Given the description of an element on the screen output the (x, y) to click on. 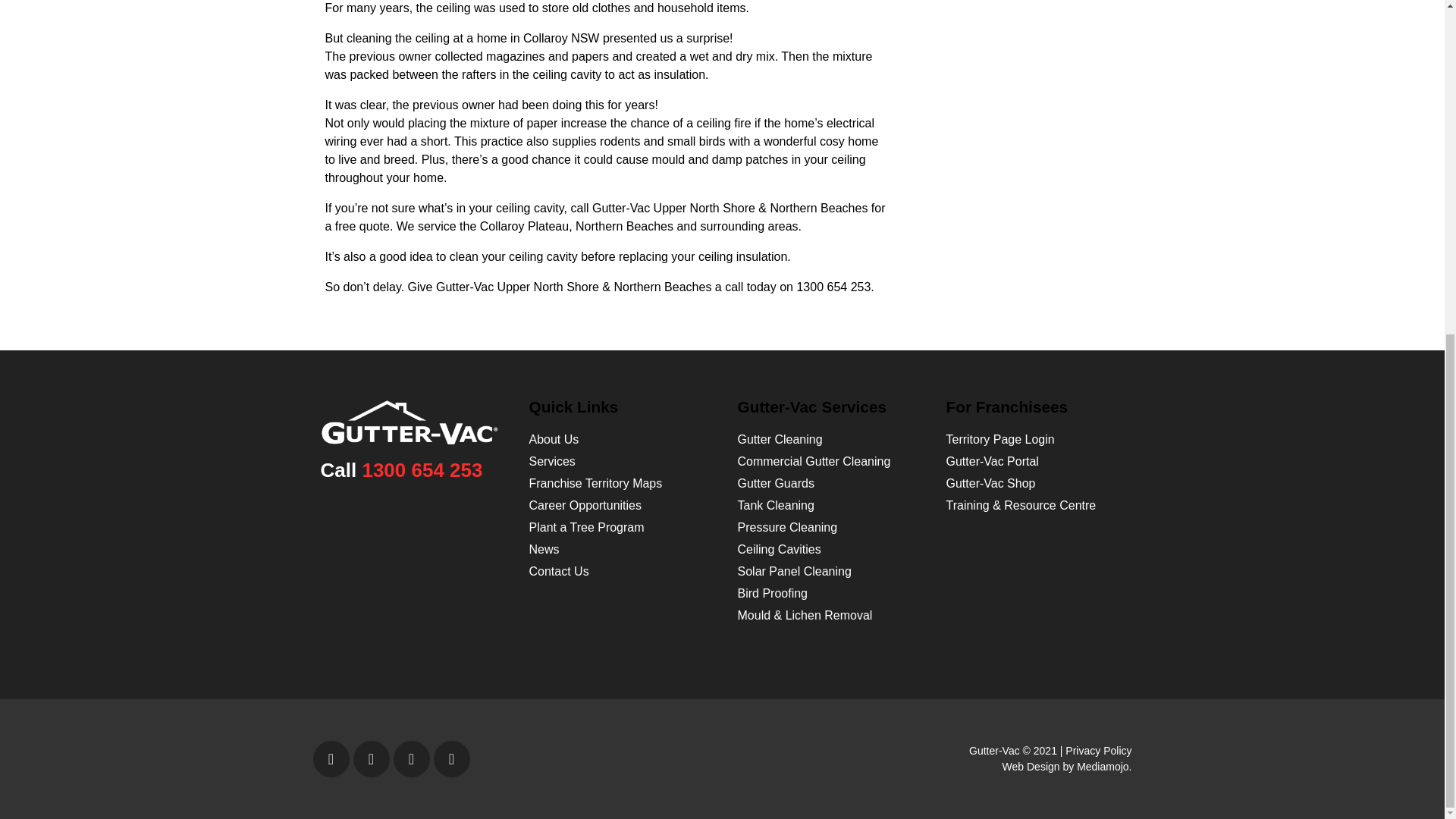
Services (552, 461)
Tank Cleaning (774, 504)
Bird Proofing (772, 593)
Territory Page Login (1000, 439)
Privacy Policy (1098, 750)
Career Opportunities (585, 504)
About Us (554, 439)
Plant a Tree Program (587, 526)
Ceiling Cavities (778, 549)
Gutter Cleaning (779, 439)
Solar Panel Cleaning (793, 571)
Web Design by Mediamojo. (1067, 766)
Gutter Guards (774, 482)
Pressure Cleaning (786, 526)
Gutter-Vac Shop (990, 482)
